Given the description of an element on the screen output the (x, y) to click on. 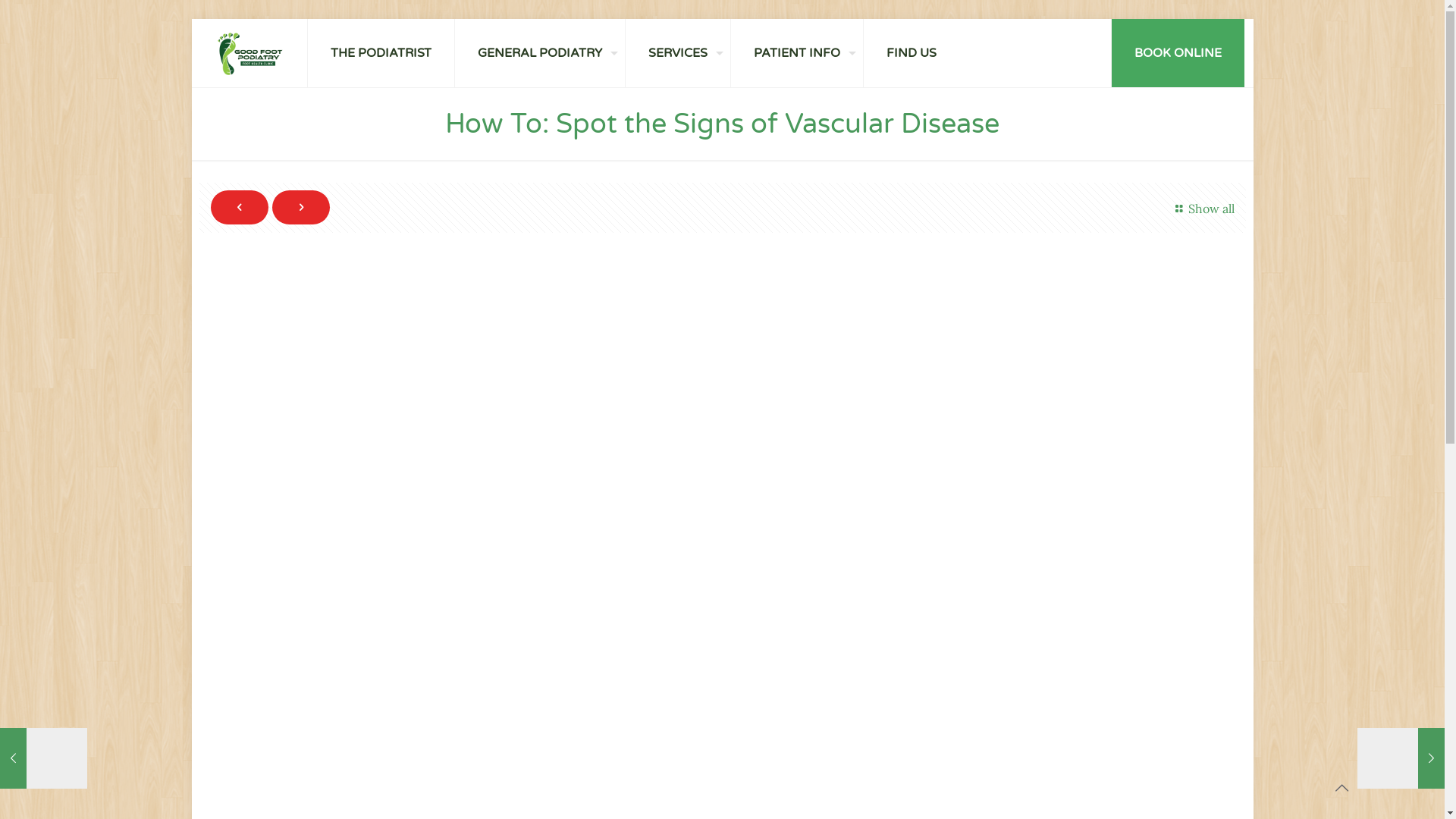
BOOK ONLINE Element type: text (1176, 52)
FIND US Element type: text (911, 52)
Good Foot Podiatry Element type: hover (249, 52)
THE PODIATRIST Element type: text (381, 52)
PATIENT INFO Element type: text (797, 52)
Show all Element type: text (1201, 208)
GENERAL PODIATRY Element type: text (540, 52)
SERVICES Element type: text (678, 52)
